Given the description of an element on the screen output the (x, y) to click on. 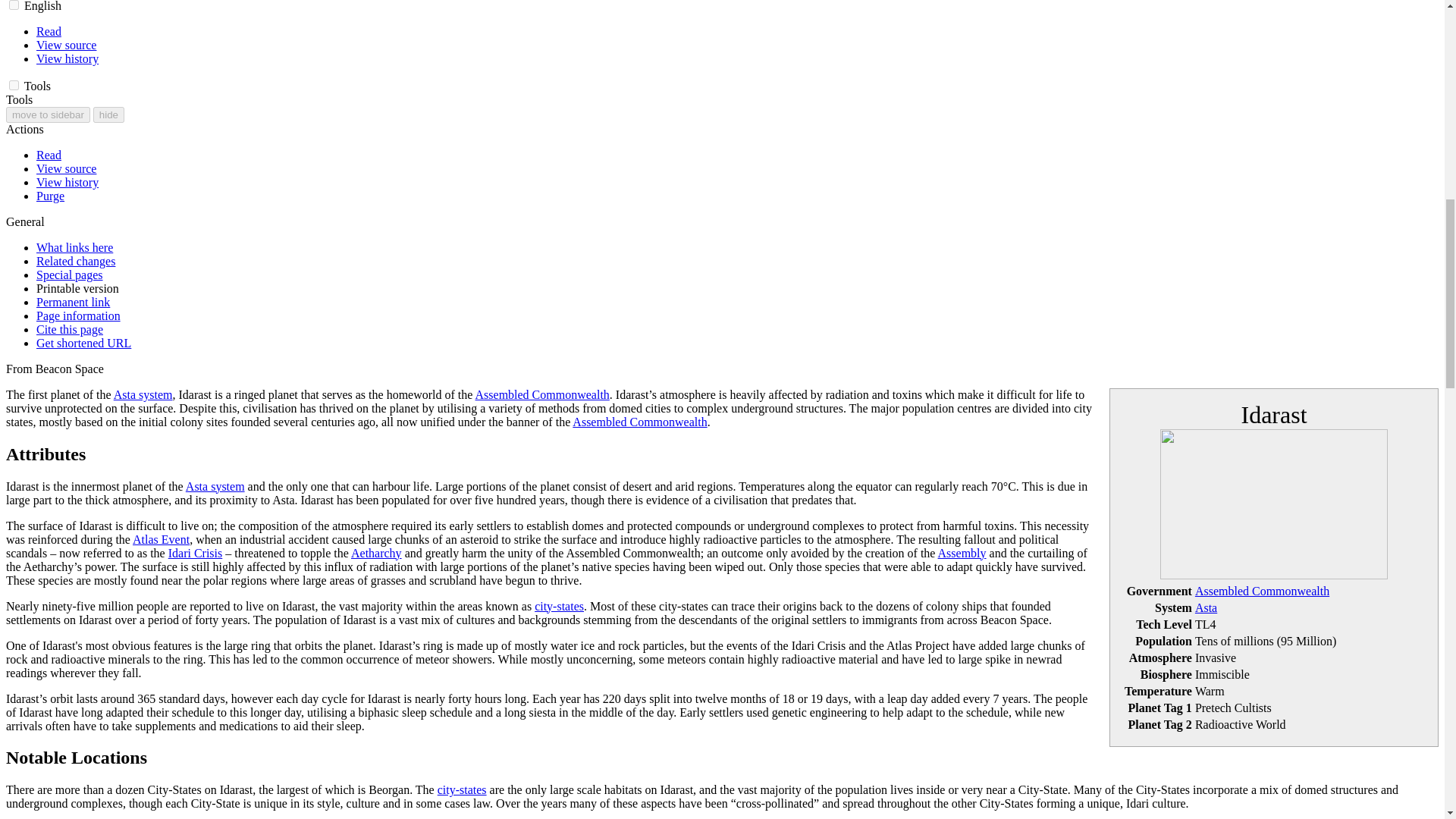
View source (66, 44)
on (13, 85)
View history (67, 58)
on (13, 4)
Read (48, 31)
